Given the description of an element on the screen output the (x, y) to click on. 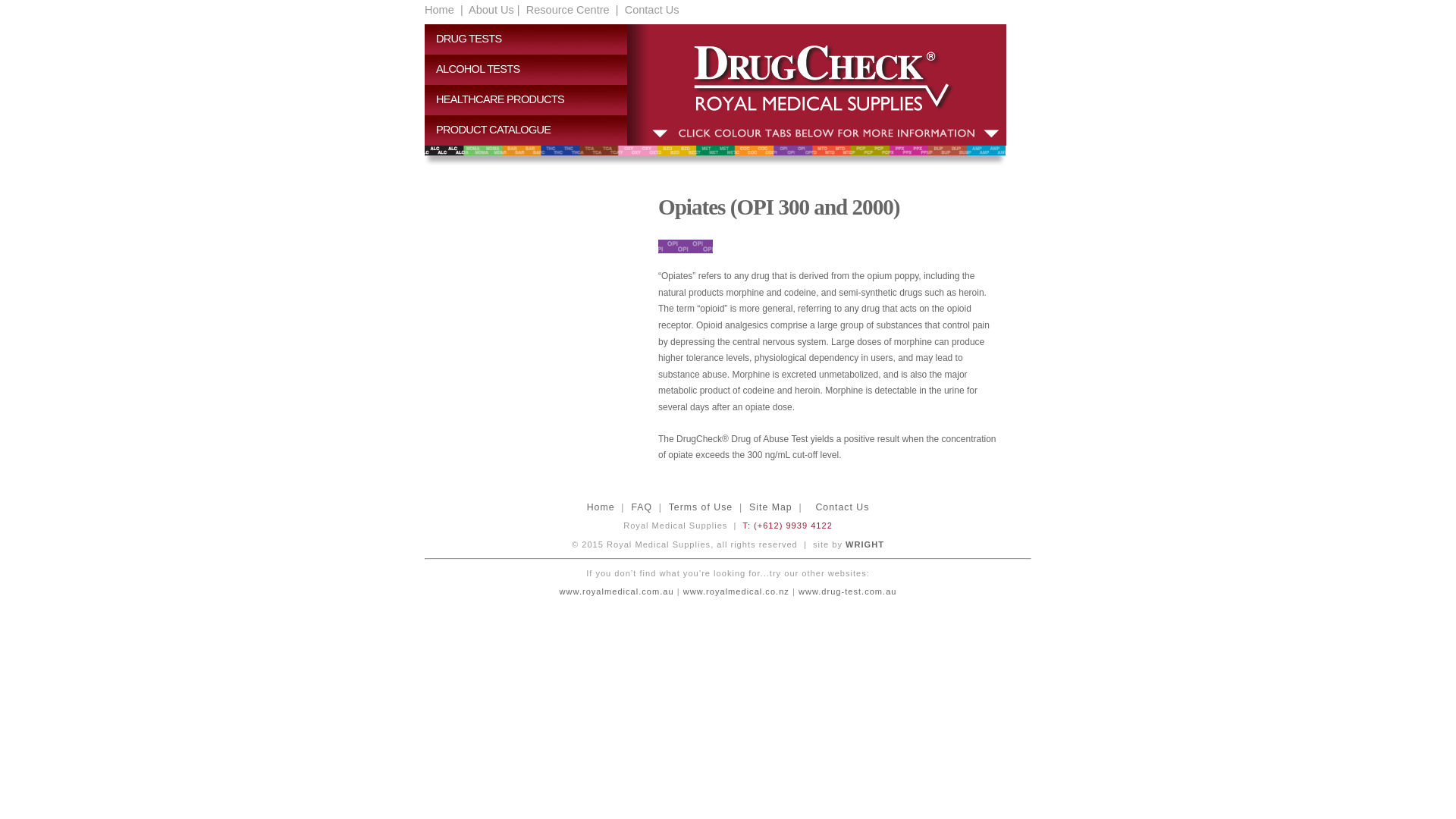
Home  | Element type: text (443, 9)
WRIGHT Element type: text (864, 544)
Home Element type: text (600, 507)
 Contact Us Element type: text (650, 9)
Site Map Element type: text (770, 507)
HEALTHCARE PRODUCTS Element type: text (532, 99)
 Resource Centre  | Element type: text (570, 9)
www.royalmedical.com.au Element type: text (714, 600)
DRUG TESTS Element type: text (532, 39)
FAQ Element type: text (641, 507)
PRODUCT CATALOGUE Element type: text (532, 130)
Contact Us Element type: text (842, 507)
Terms of Use Element type: text (700, 507)
www.royalmedical.co.nz Element type: text (736, 591)
ALCOHOL TESTS Element type: text (532, 69)
www.drug-test.com.au Element type: text (846, 591)
 About Us | Element type: text (493, 9)
